Given the description of an element on the screen output the (x, y) to click on. 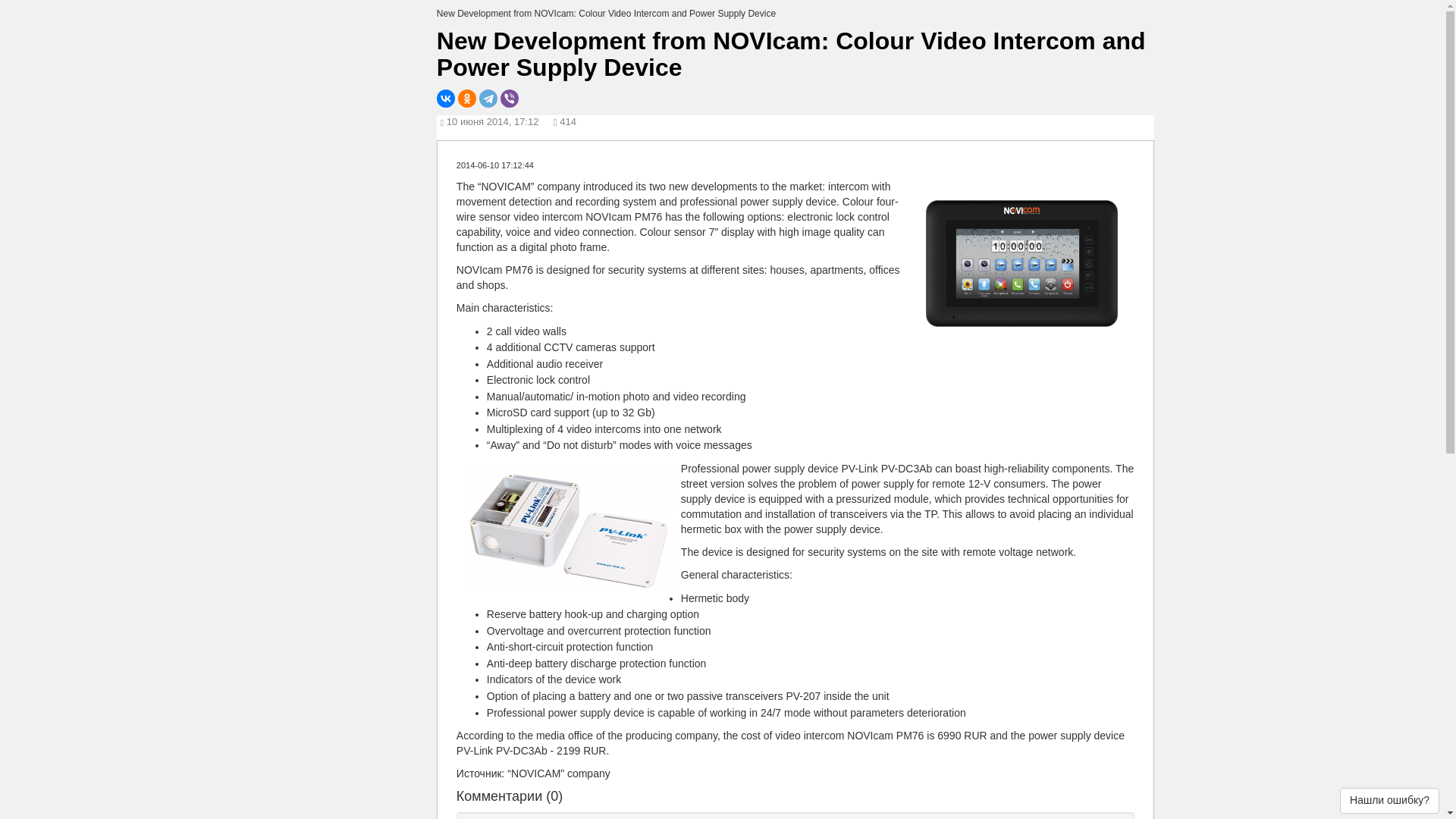
Viber (509, 98)
 NOVIcam PM76 (1021, 261)
Telegram (488, 98)
PV-Link PV-DC3Ab (568, 530)
